Given the description of an element on the screen output the (x, y) to click on. 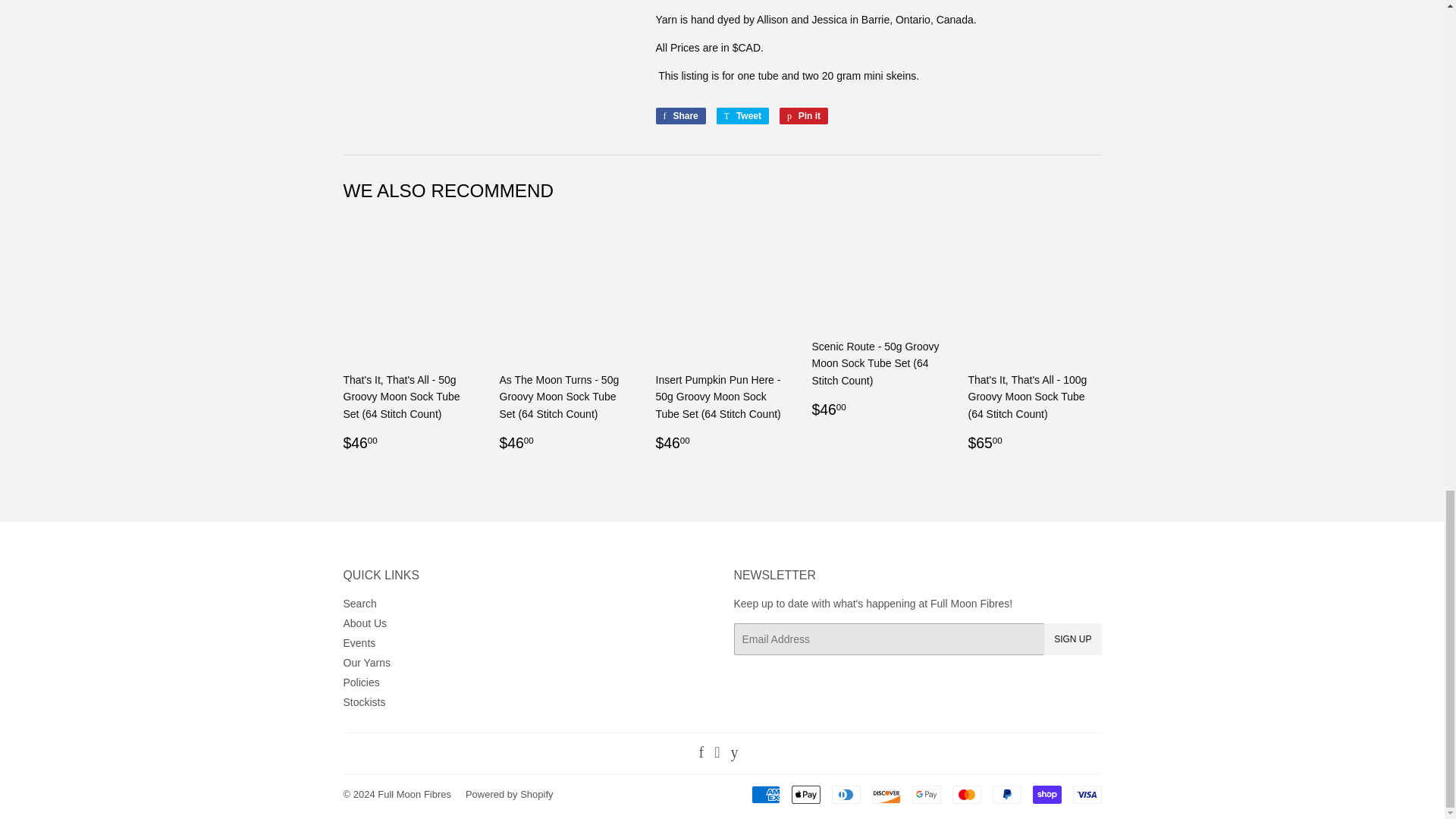
Visa (1085, 794)
Tweet on Twitter (742, 115)
Diners Club (845, 794)
American Express (764, 794)
Pin on Pinterest (803, 115)
PayPal (1005, 794)
Share on Facebook (679, 115)
Apple Pay (806, 794)
Google Pay (925, 794)
Discover (886, 794)
